Given the description of an element on the screen output the (x, y) to click on. 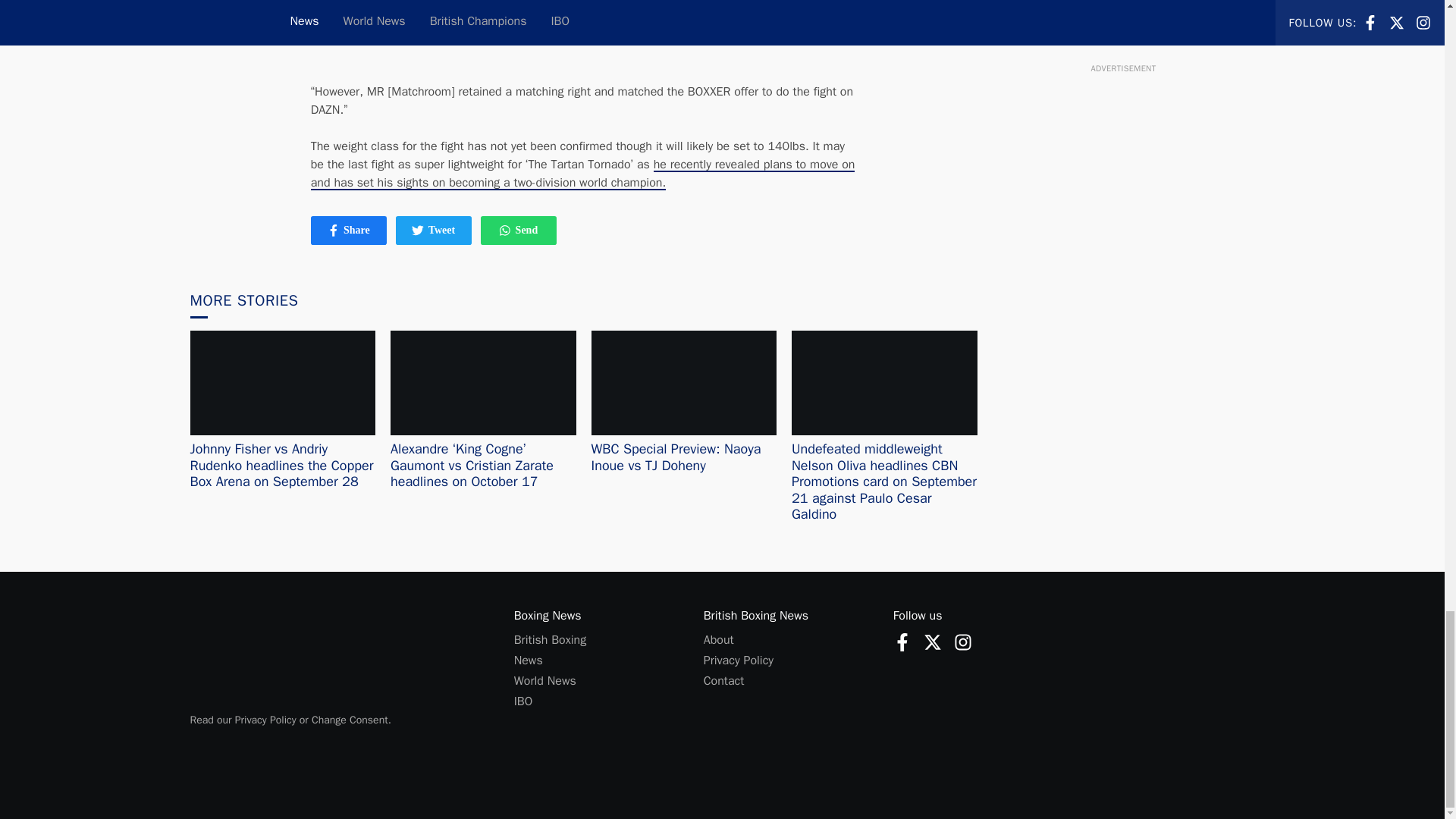
Instagram (932, 641)
About (962, 642)
Facebook (718, 639)
Privacy Policy (902, 642)
Facebook (738, 660)
WhatsApp (333, 230)
